Given the description of an element on the screen output the (x, y) to click on. 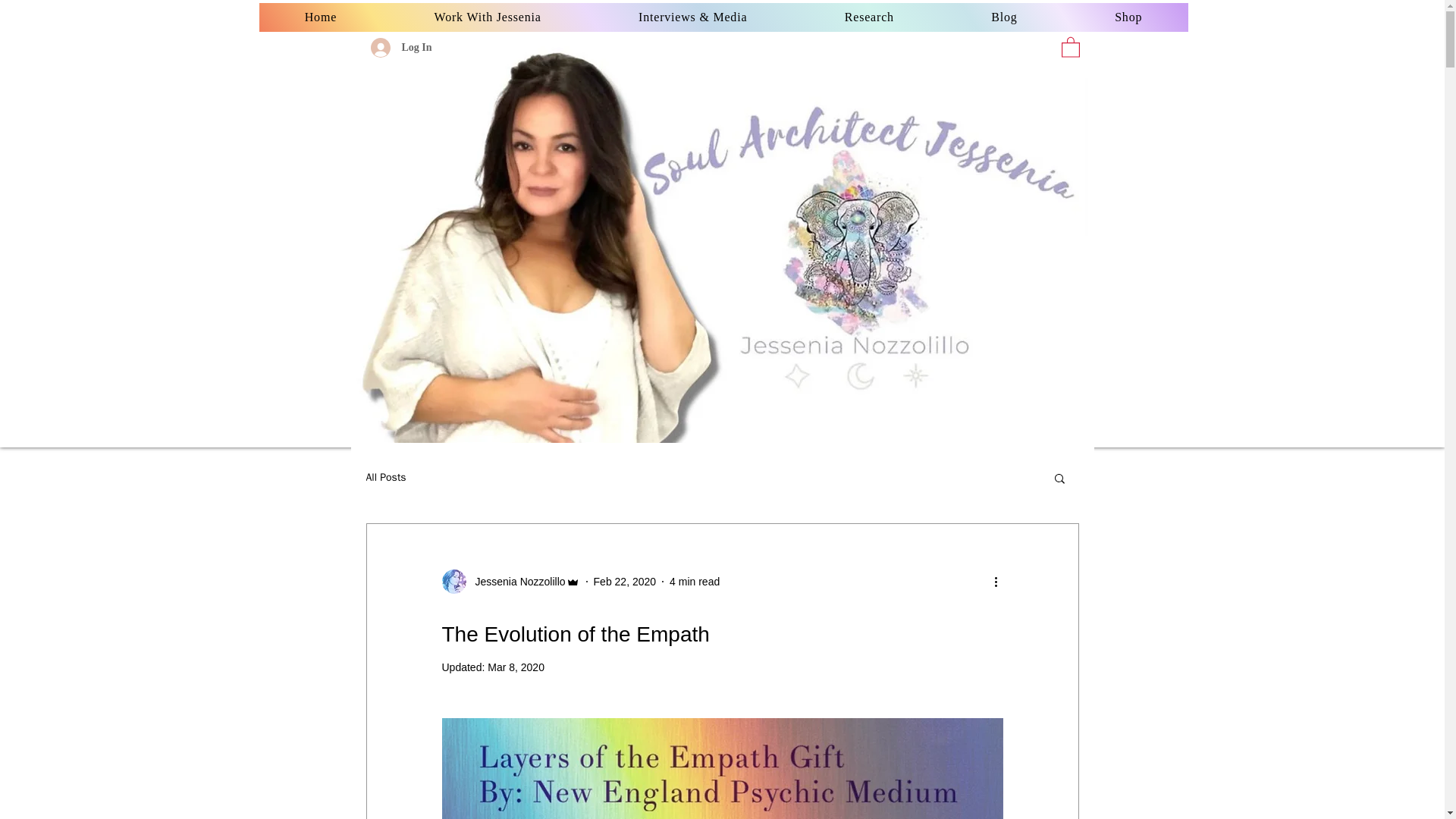
Jessenia Nozzolillo (514, 580)
Home (320, 17)
Feb 22, 2020 (625, 580)
Jessenia Nozzolillo (510, 581)
Work With Jessenia (487, 17)
Mar 8, 2020 (515, 666)
All Posts (385, 477)
Shop (1128, 17)
Blog (1003, 17)
Research (869, 17)
4 min read (694, 580)
Log In (400, 47)
